Given the description of an element on the screen output the (x, y) to click on. 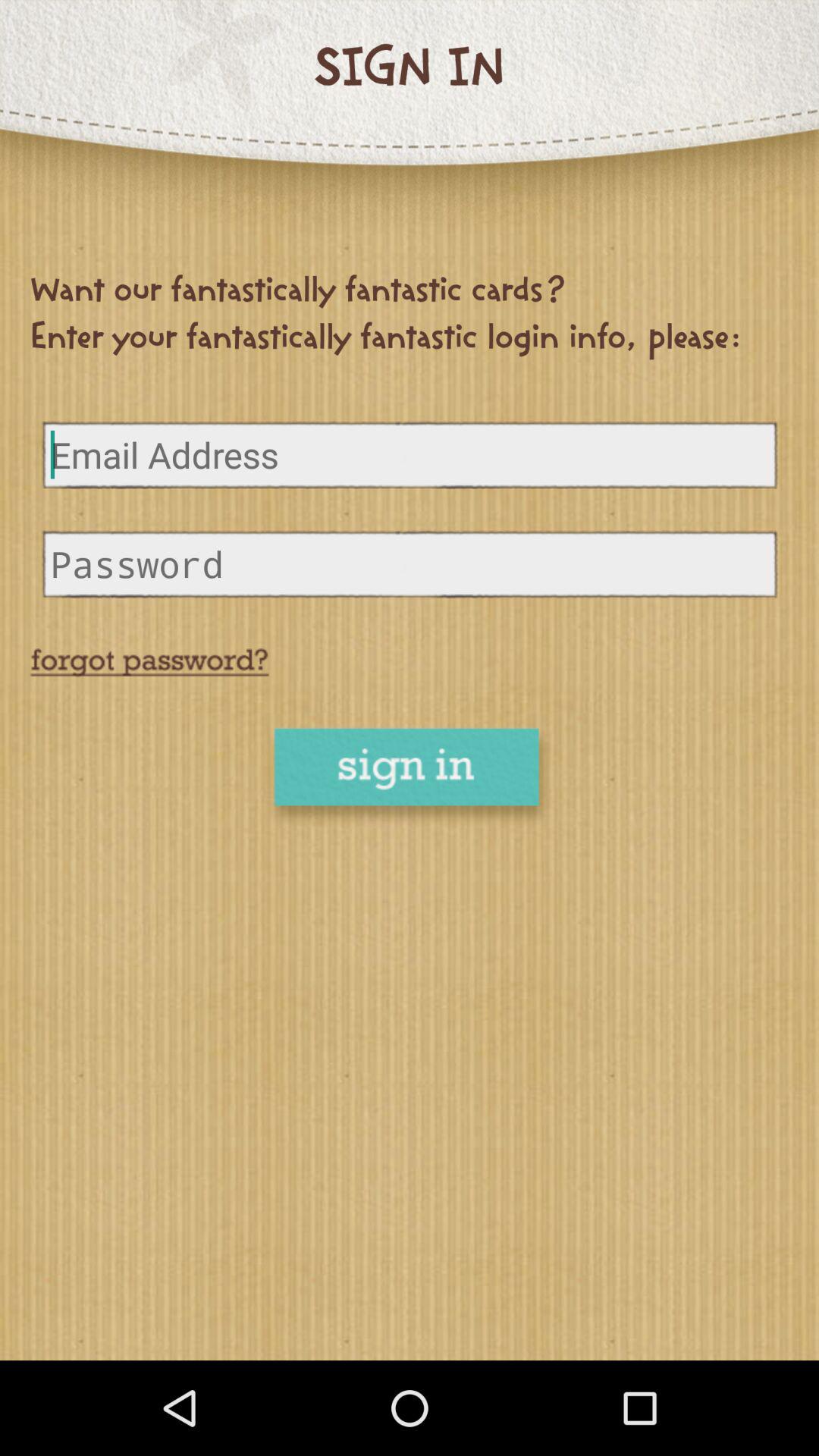
click to sign in (409, 777)
